Given the description of an element on the screen output the (x, y) to click on. 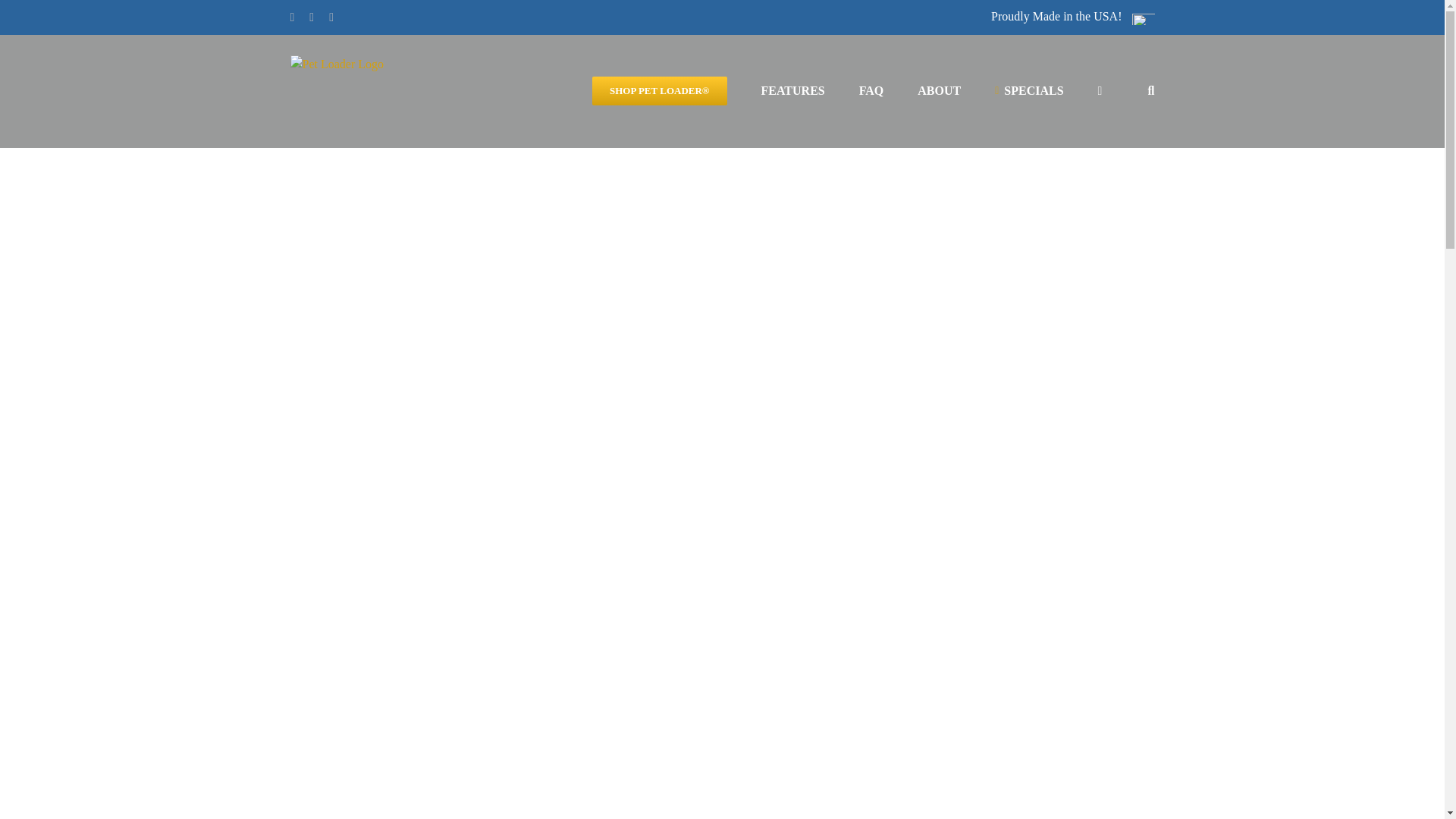
SPECIALS (1028, 91)
YouTube (311, 16)
Facebook (291, 16)
YouTube (311, 16)
FEATURES (793, 91)
Email (331, 16)
FAQ (871, 91)
Proudly Made in the USA! (1072, 17)
Email (331, 16)
Facebook (291, 16)
ABOUT (938, 91)
